Given the description of an element on the screen output the (x, y) to click on. 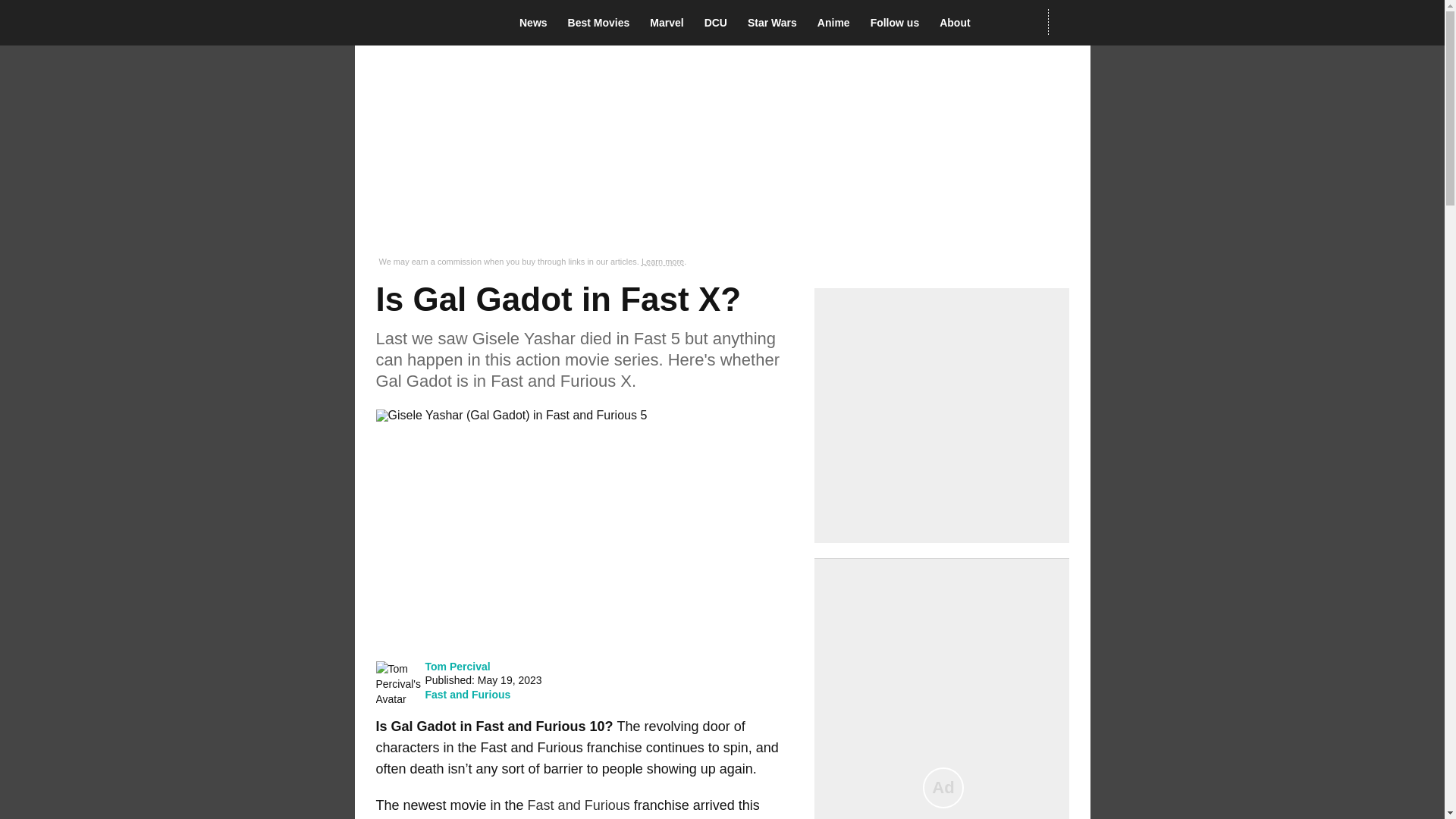
Star Wars News (777, 22)
Network N Media (1068, 22)
Marvel (671, 22)
The Digital Fix (424, 22)
Star Wars (777, 22)
Marvel Cinematic Universe News (671, 22)
Fast and Furious (468, 694)
Anime (837, 22)
Follow us (899, 22)
Fast and Furious (578, 805)
Tom Percival (457, 666)
Learn more (663, 261)
Anime News (837, 22)
Best Movies (603, 22)
